Given the description of an element on the screen output the (x, y) to click on. 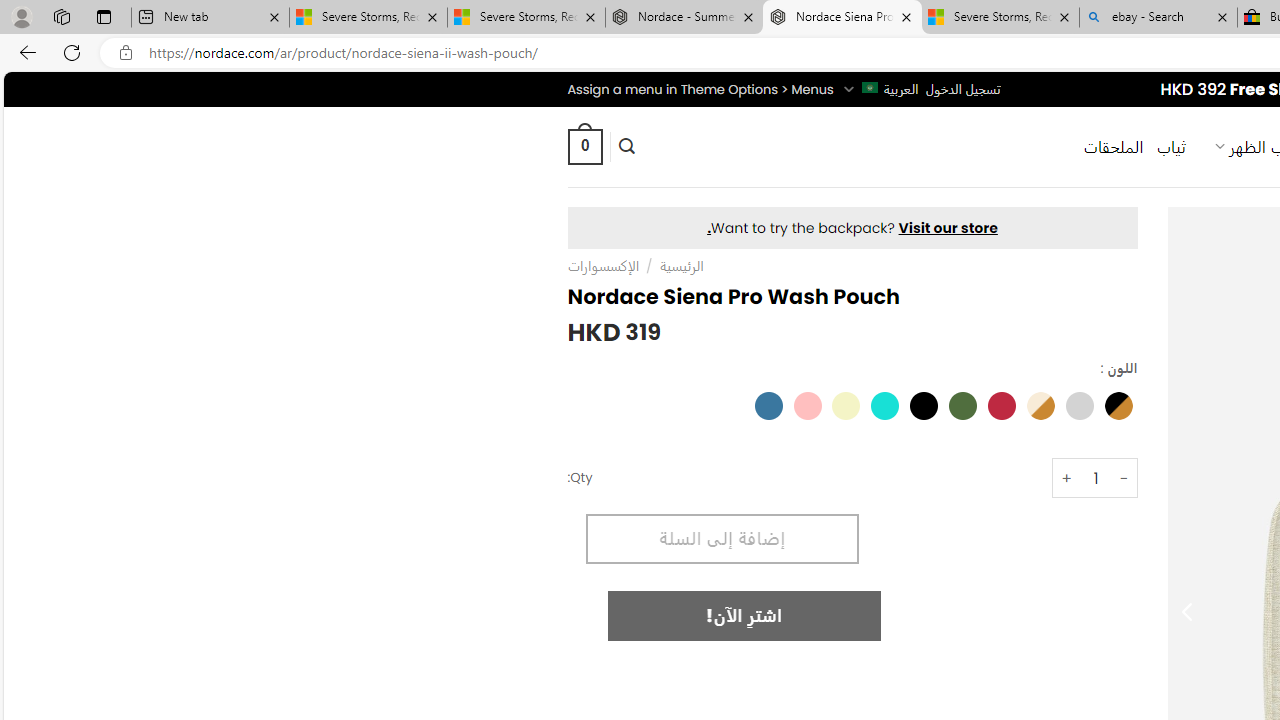
  0   (584, 146)
Assign a menu in Theme Options > Menus (700, 89)
+ (1066, 477)
Nordace Siena Pro Wash Pouch (842, 17)
